Given the description of an element on the screen output the (x, y) to click on. 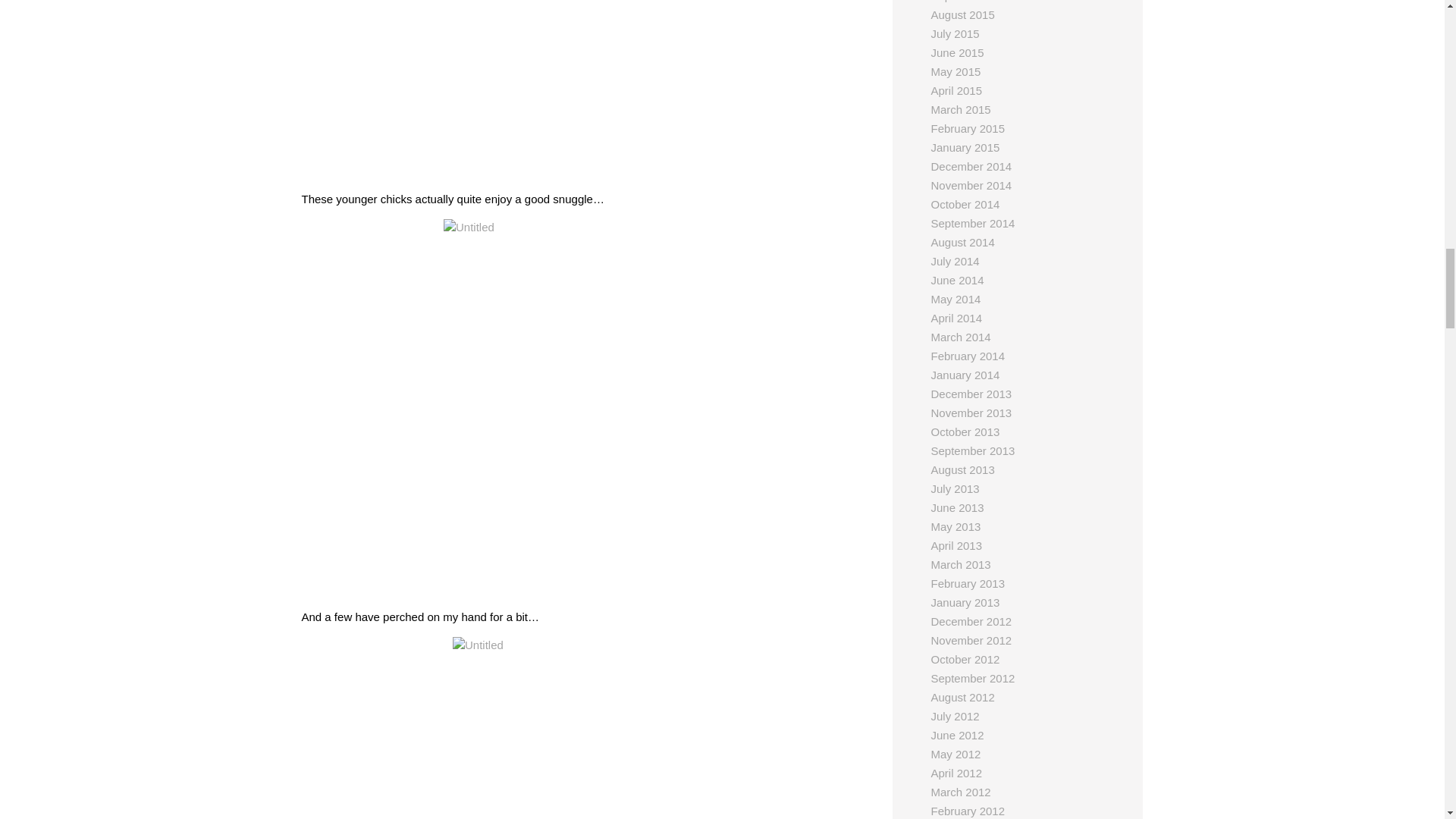
Untitled by kitliz, on Flickr (585, 89)
Untitled by kitliz, on Flickr (585, 728)
